Given the description of an element on the screen output the (x, y) to click on. 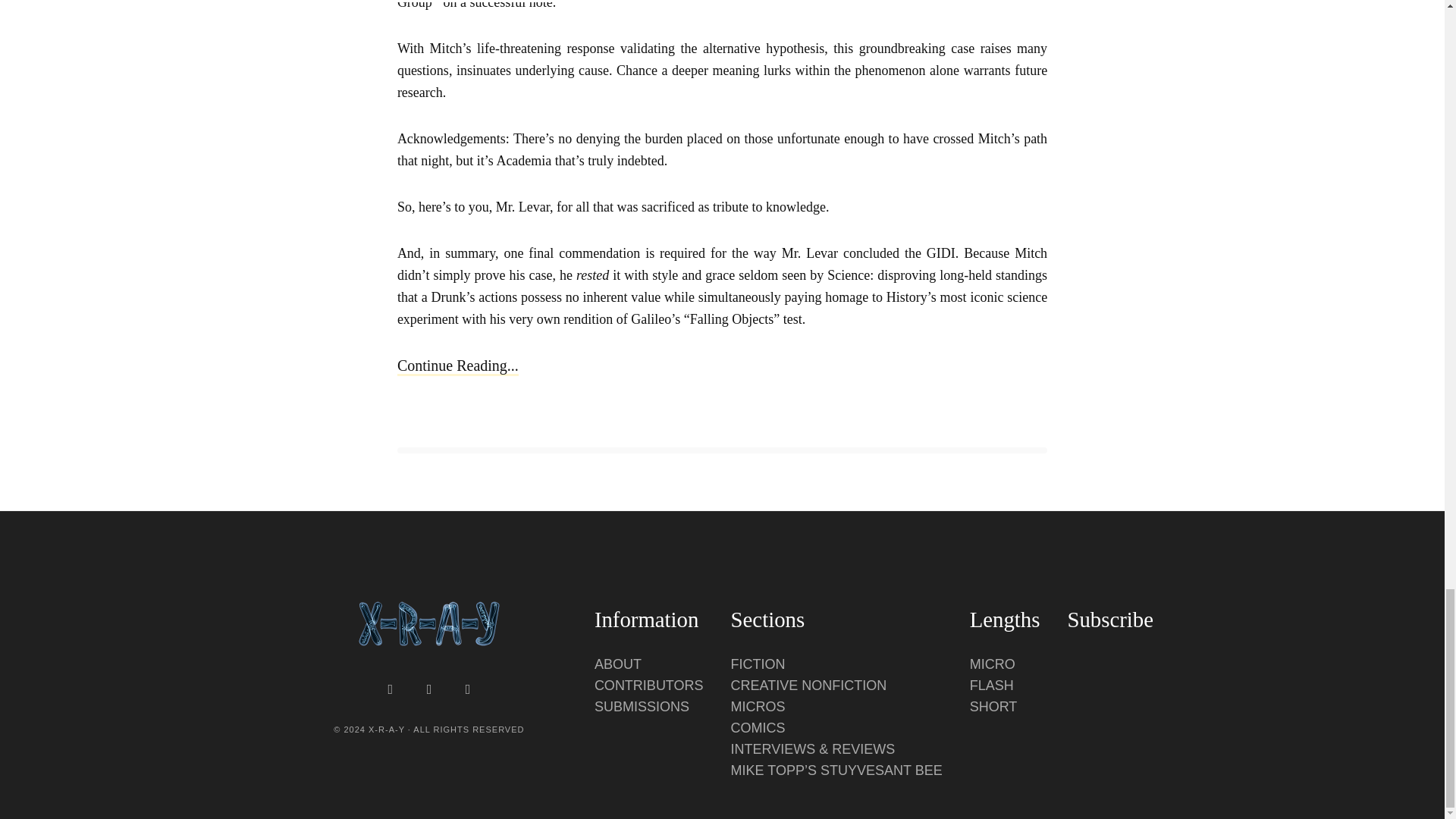
CREATIVE NONFICTION (808, 685)
FICTION (758, 663)
MICROS (758, 706)
ABOUT (618, 663)
COMICS (758, 727)
Continue Reading... (457, 366)
MICRO (991, 663)
CONTRIBUTORS (648, 685)
SUBMISSIONS (641, 706)
SHORT (993, 706)
FLASH (991, 685)
